Given the description of an element on the screen output the (x, y) to click on. 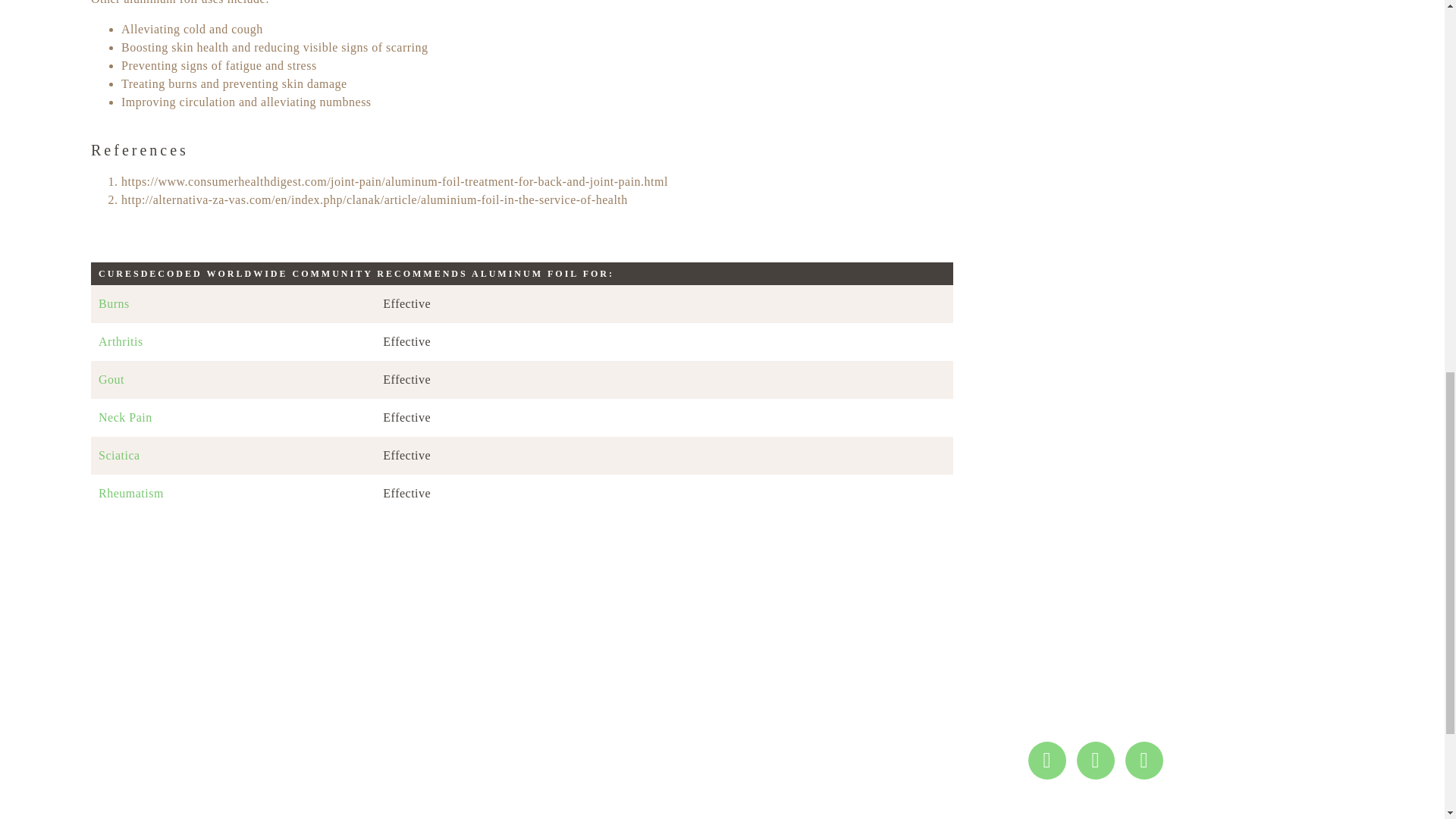
Health Conditions (755, 663)
Natural Products (755, 681)
Subscribe (291, 759)
Neck Pain (232, 417)
Forums (755, 718)
Neck Pain (232, 417)
Gout (232, 379)
Arthritis (232, 341)
Share Your Story (755, 700)
Contact Us (755, 772)
